Given the description of an element on the screen output the (x, y) to click on. 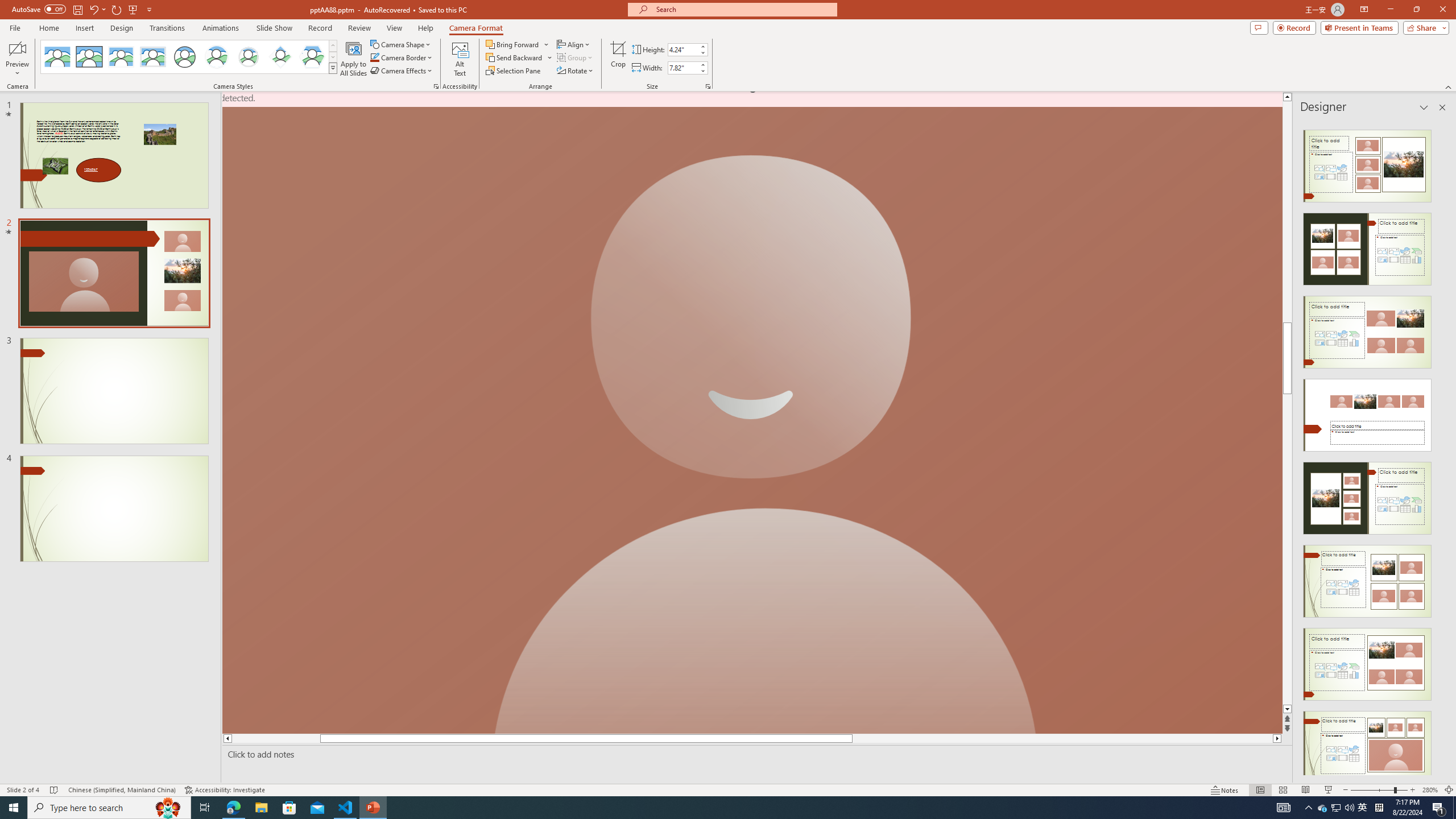
Camera Border Teal, Accent 1 (374, 56)
Center Shadow Rectangle (120, 56)
Soft Edge Circle (248, 56)
